Given the description of an element on the screen output the (x, y) to click on. 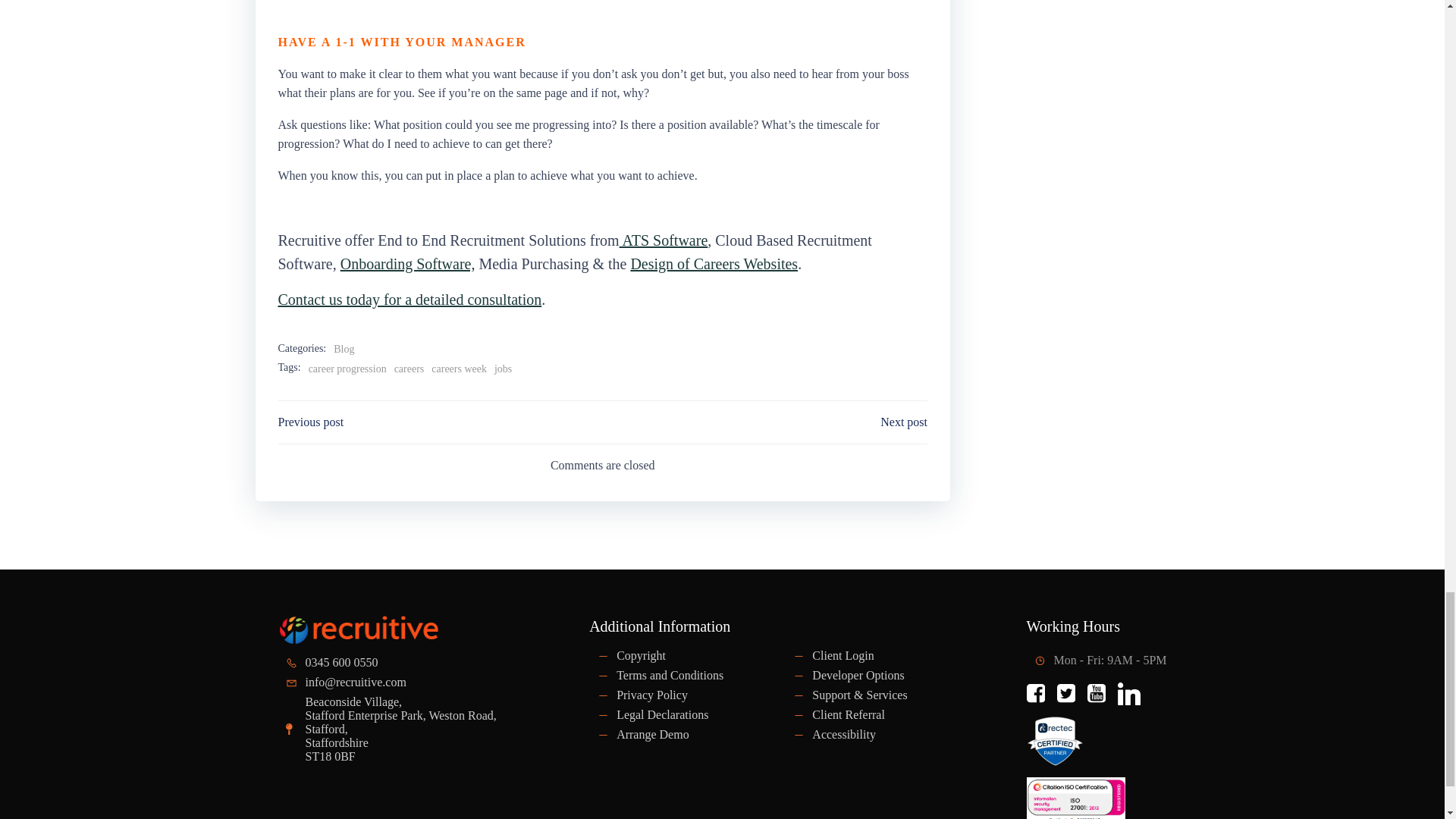
jobs (503, 369)
Previous post (310, 422)
careers (409, 369)
career progression Tag (347, 369)
ATS Software (663, 239)
career progression (347, 369)
Onboarding Software, (408, 263)
Blog (343, 349)
Contact us today for a detailed consultation (409, 299)
careers week Tag (458, 369)
Design of Careers Websites (713, 263)
careers week (458, 369)
careers Tag (409, 369)
jobs Tag (503, 369)
